Given the description of an element on the screen output the (x, y) to click on. 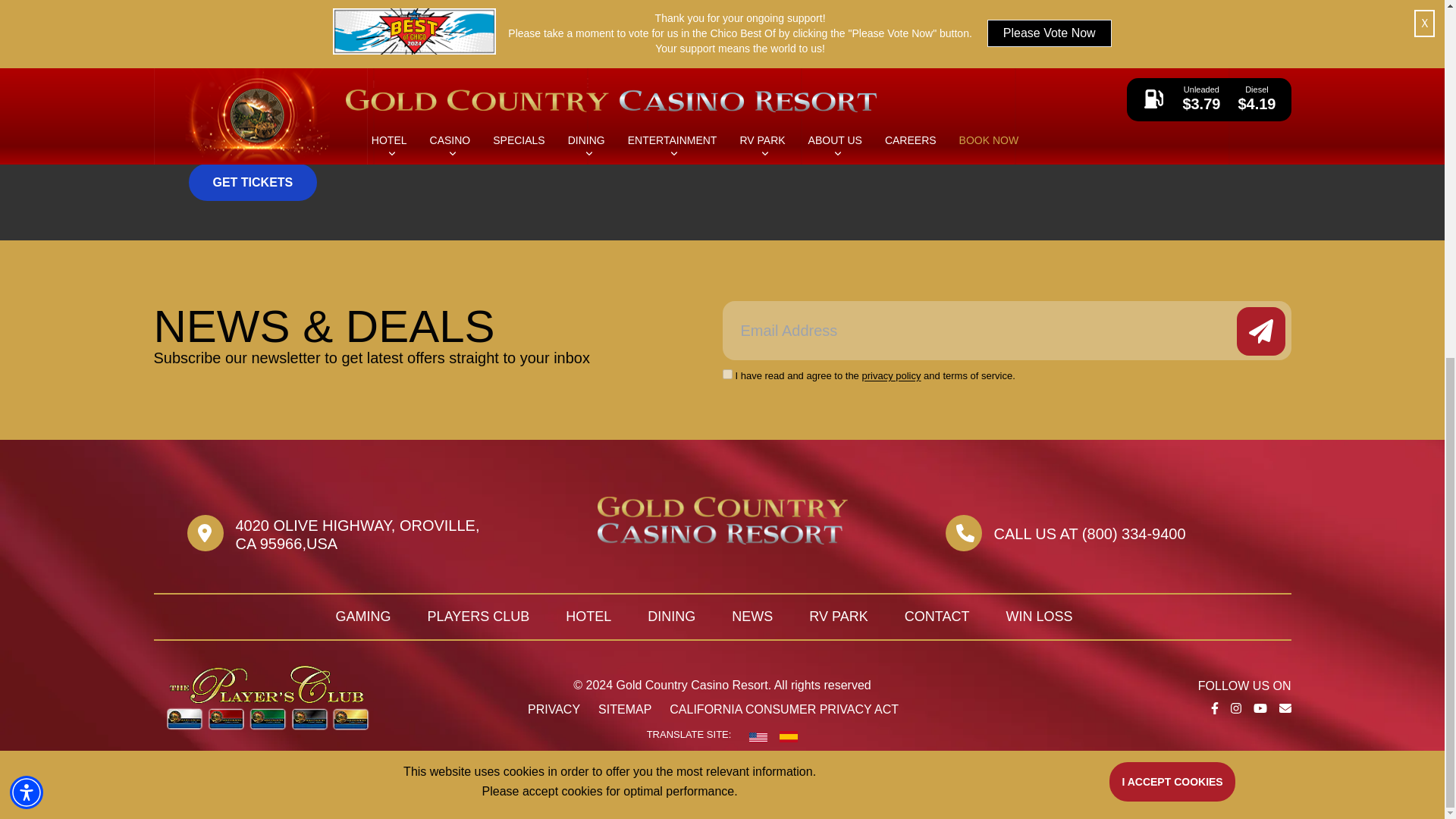
1 (727, 374)
Accessibility Menu (26, 160)
